Given the description of an element on the screen output the (x, y) to click on. 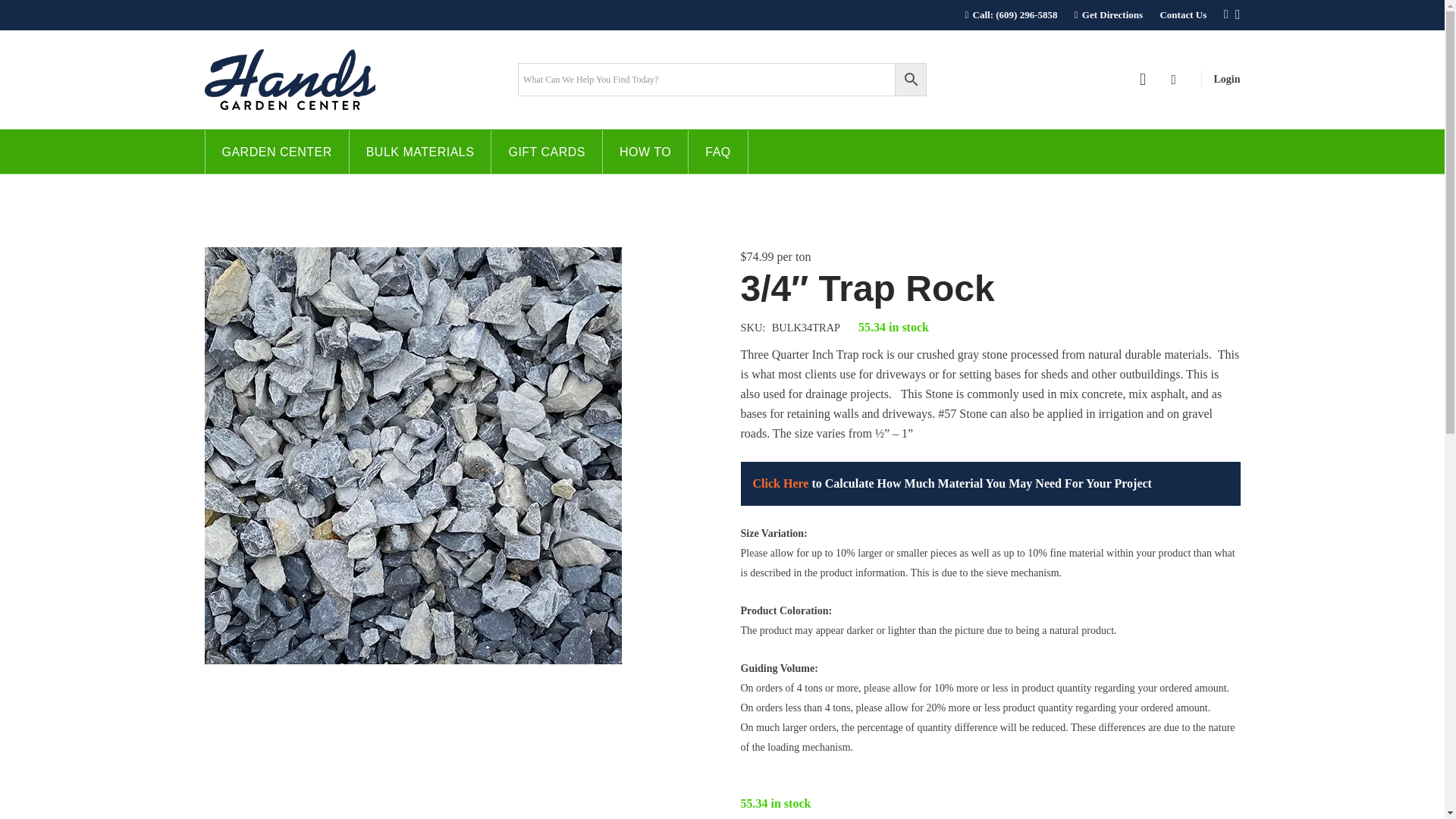
GARDEN CENTER (276, 152)
Get Directions (1108, 14)
HOW TO (644, 152)
0 (1173, 79)
GIFT CARDS (547, 152)
FAQ (718, 152)
Login (1226, 79)
Contact Us (1182, 14)
BULK MATERIALS (420, 152)
Click Here (780, 482)
